Given the description of an element on the screen output the (x, y) to click on. 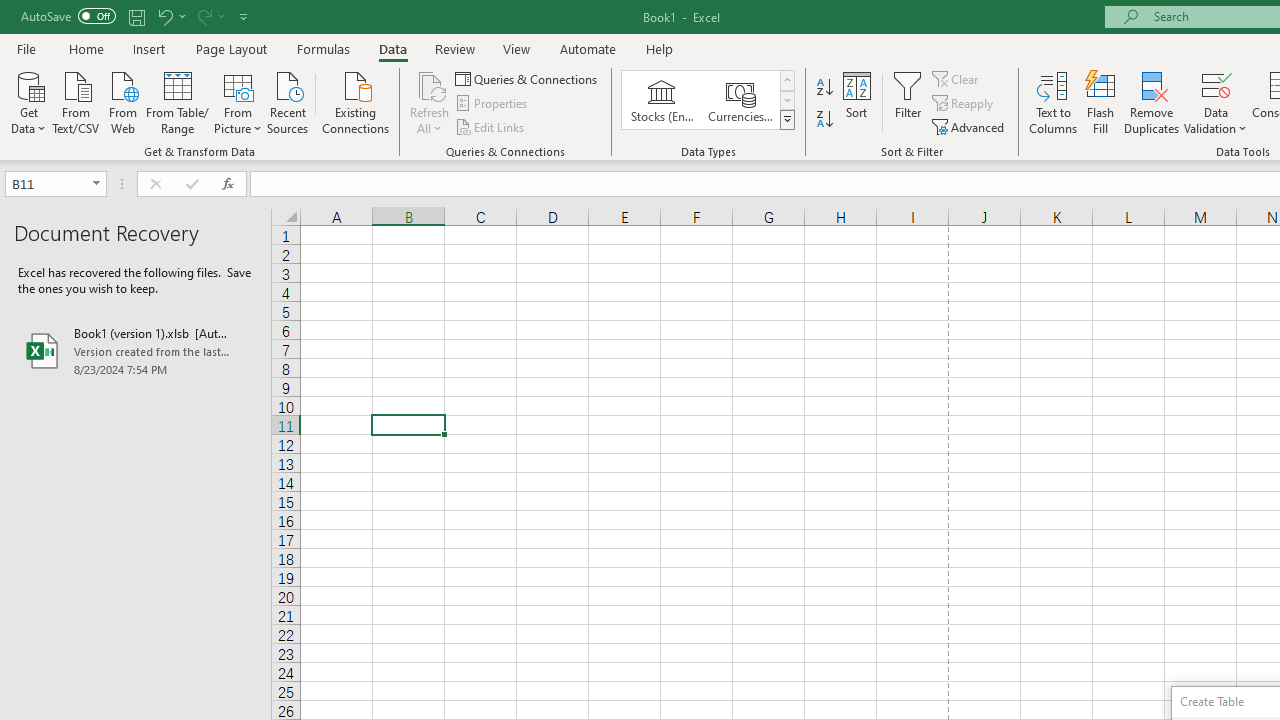
Row up (786, 79)
Get Data (28, 101)
Filter (908, 102)
Currencies (English) (740, 100)
Data Validation... (1215, 102)
Class: NetUIImage (787, 119)
Clear (957, 78)
Text to Columns... (1053, 102)
